Given the description of an element on the screen output the (x, y) to click on. 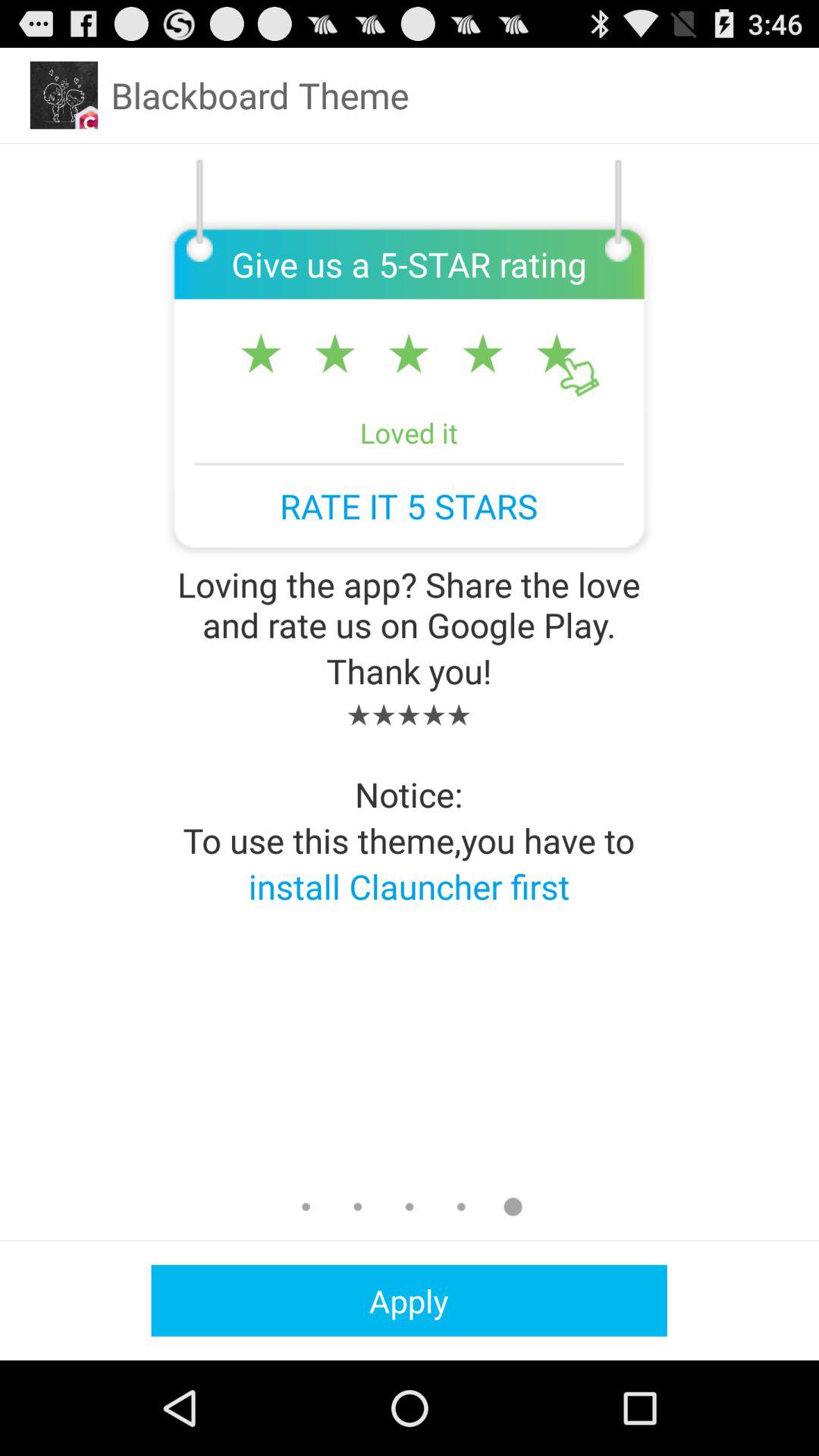
turn off apply button (409, 1300)
